Given the description of an element on the screen output the (x, y) to click on. 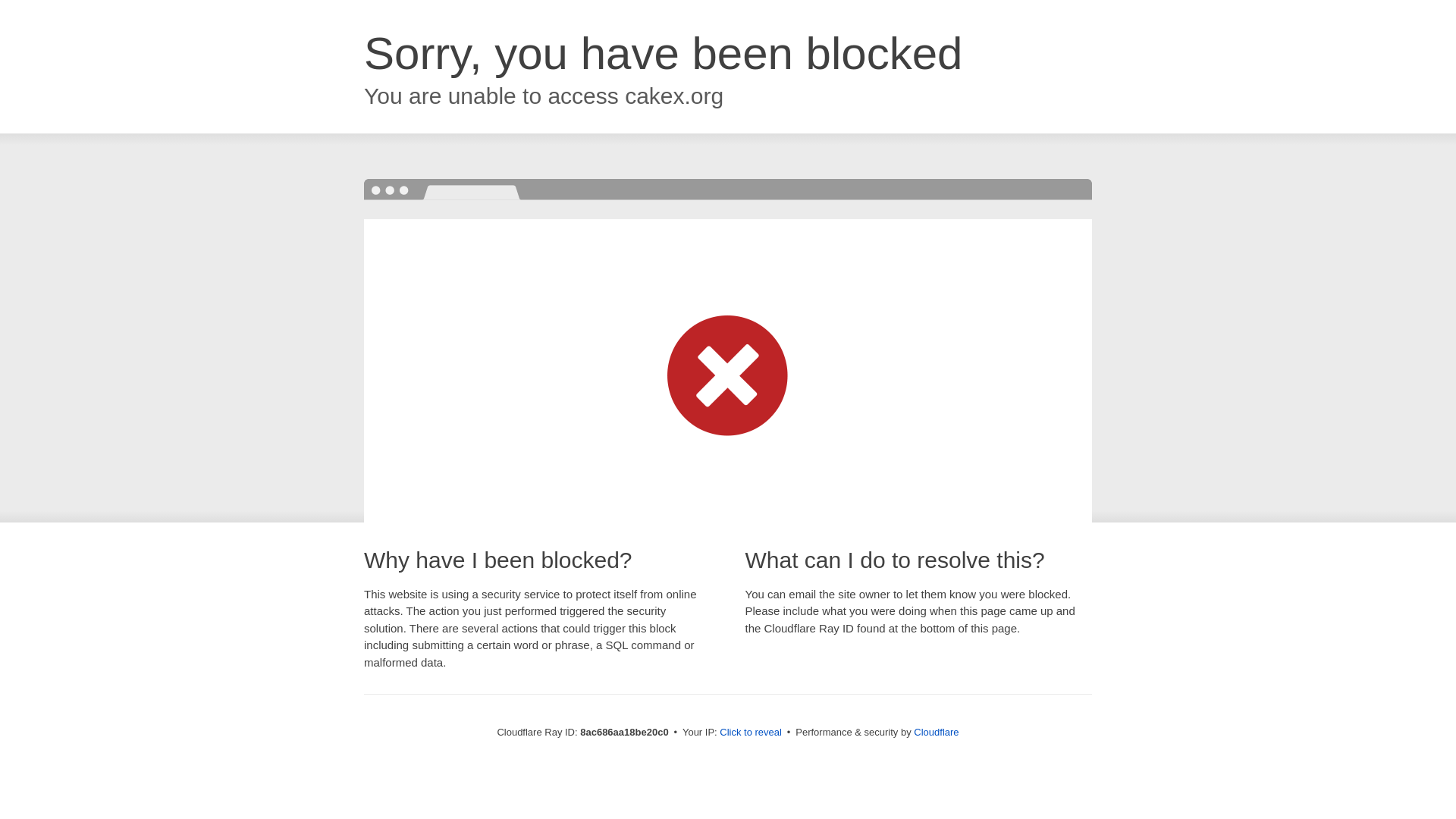
Cloudflare (936, 731)
Click to reveal (750, 732)
